Given the description of an element on the screen output the (x, y) to click on. 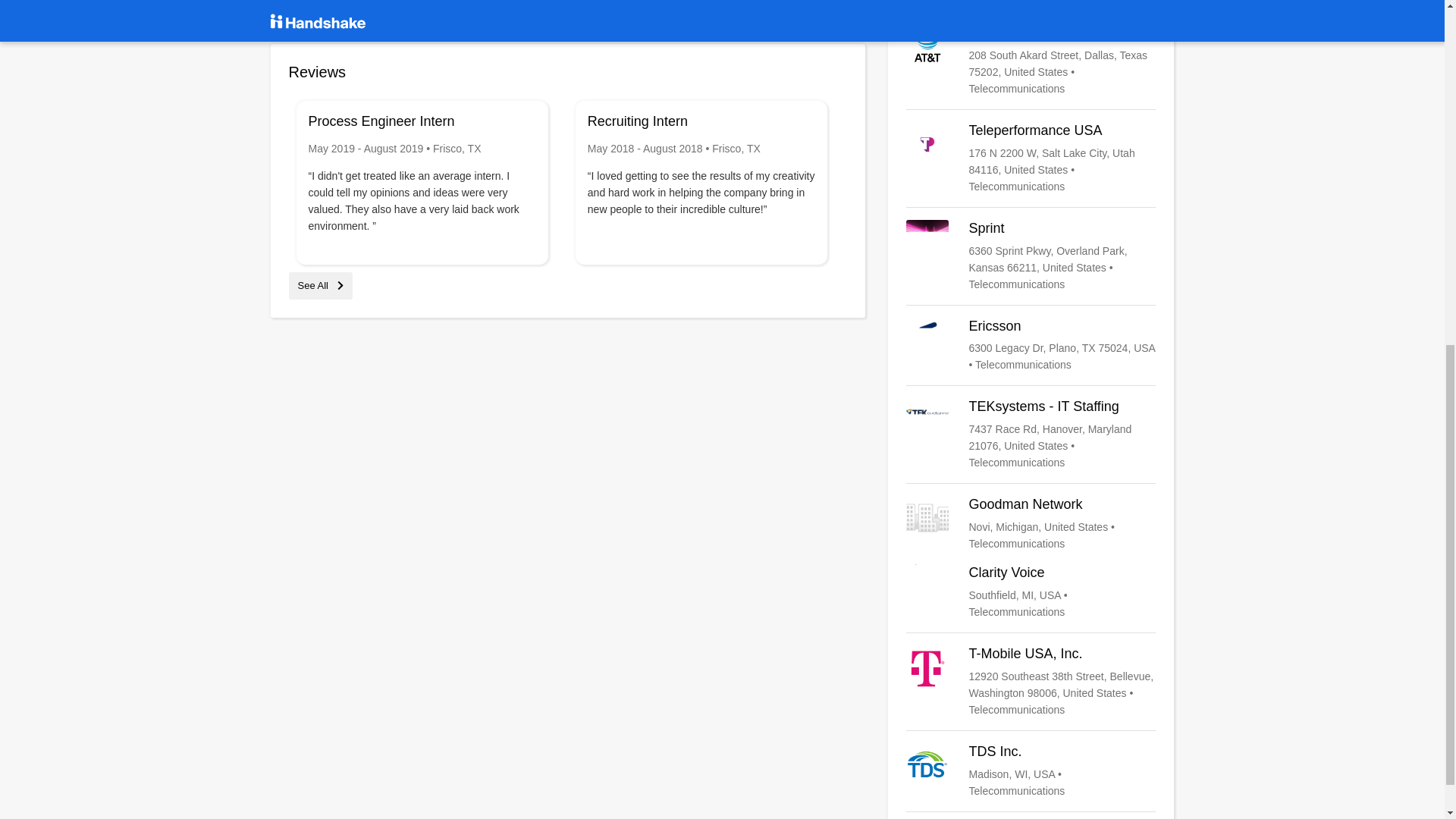
Goodman Network (1030, 524)
TDS Inc. (1030, 770)
T-Mobile USA, Inc. (1030, 681)
Teleperformance USA (1030, 158)
Ericsson (1030, 345)
TEKsystems - IT Staffing (1030, 434)
Sprint (1030, 256)
Clarity Voice (1030, 591)
See All (320, 285)
